Given the description of an element on the screen output the (x, y) to click on. 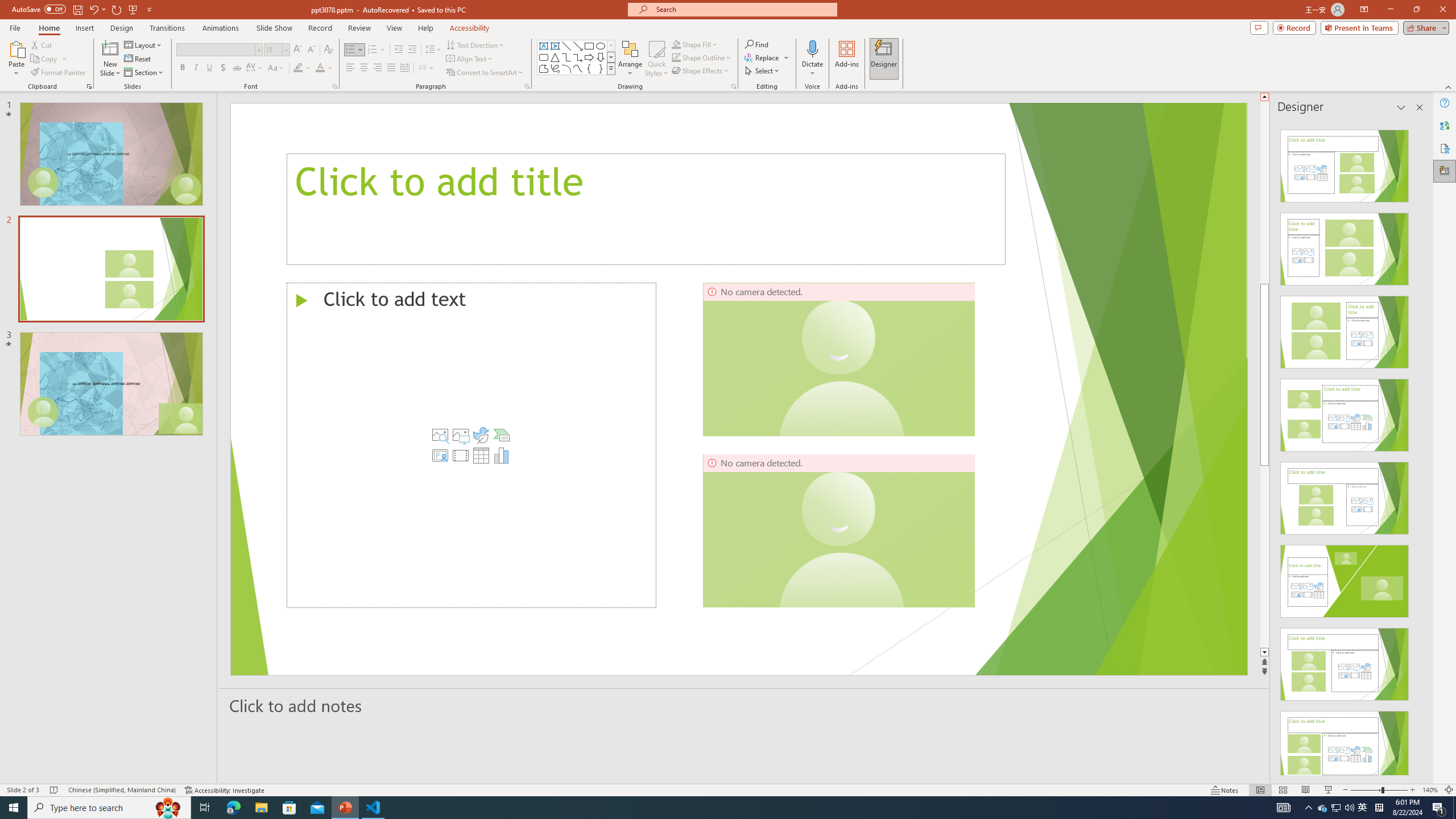
Stock Images (439, 434)
Insert a SmartArt Graphic (501, 434)
Text Direction (476, 44)
Camera 3, No camera detected. (838, 530)
Decrease Font Size (310, 49)
Arrow: Right (589, 57)
Format Object... (733, 85)
